Given the description of an element on the screen output the (x, y) to click on. 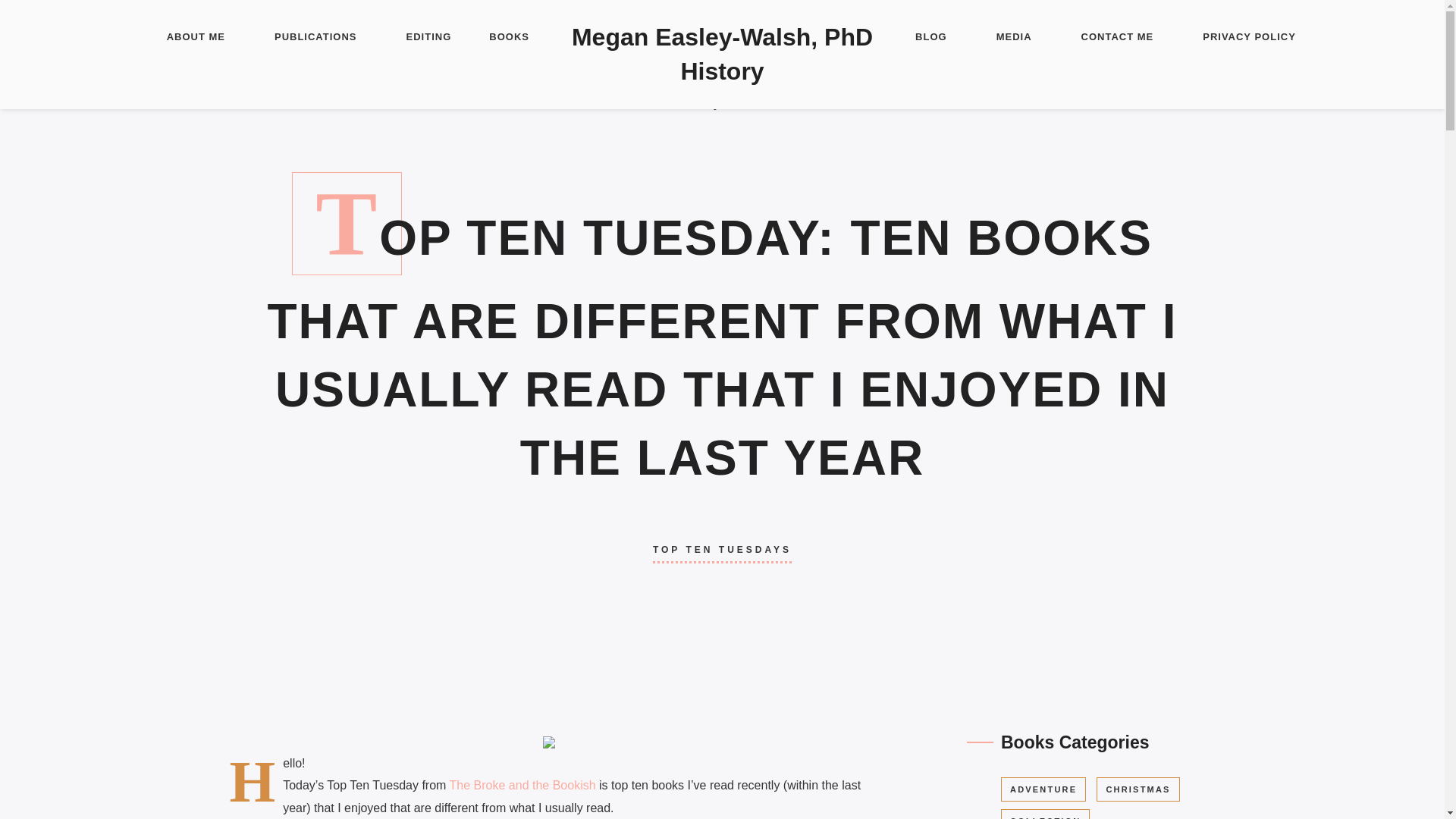
ADVENTURE (1043, 789)
BOOKS (509, 37)
CHRISTMAS (1137, 789)
CONTACT ME (1117, 37)
ABOUT ME (196, 37)
TOP TEN TUESDAYS (722, 549)
MEDIA (1013, 37)
PUBLICATIONS (315, 37)
Megan Easley-Walsh, PhD History (721, 54)
BLOG (931, 37)
